Given the description of an element on the screen output the (x, y) to click on. 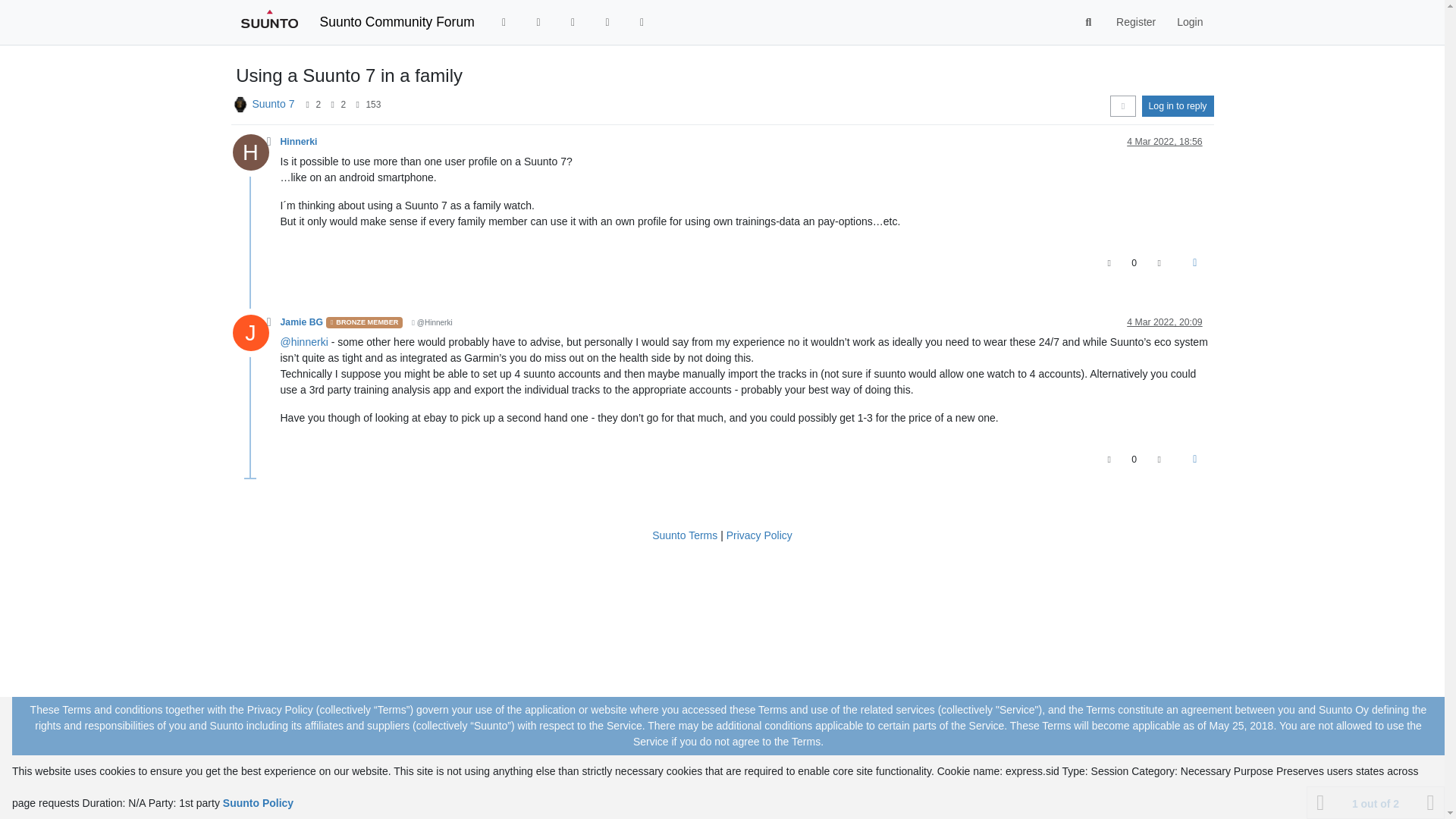
Recent (503, 22)
Suunto Community Forum (397, 22)
Users (606, 22)
Popular (573, 22)
4 Mar 2022, 18:56 (1164, 141)
Register (1135, 22)
Log in to reply (1177, 106)
Posters (307, 103)
Suunto 7 (272, 103)
Login (1189, 22)
H (255, 155)
Hinnerki (299, 141)
Search (1088, 22)
Tags (538, 22)
Groups (641, 22)
